Given the description of an element on the screen output the (x, y) to click on. 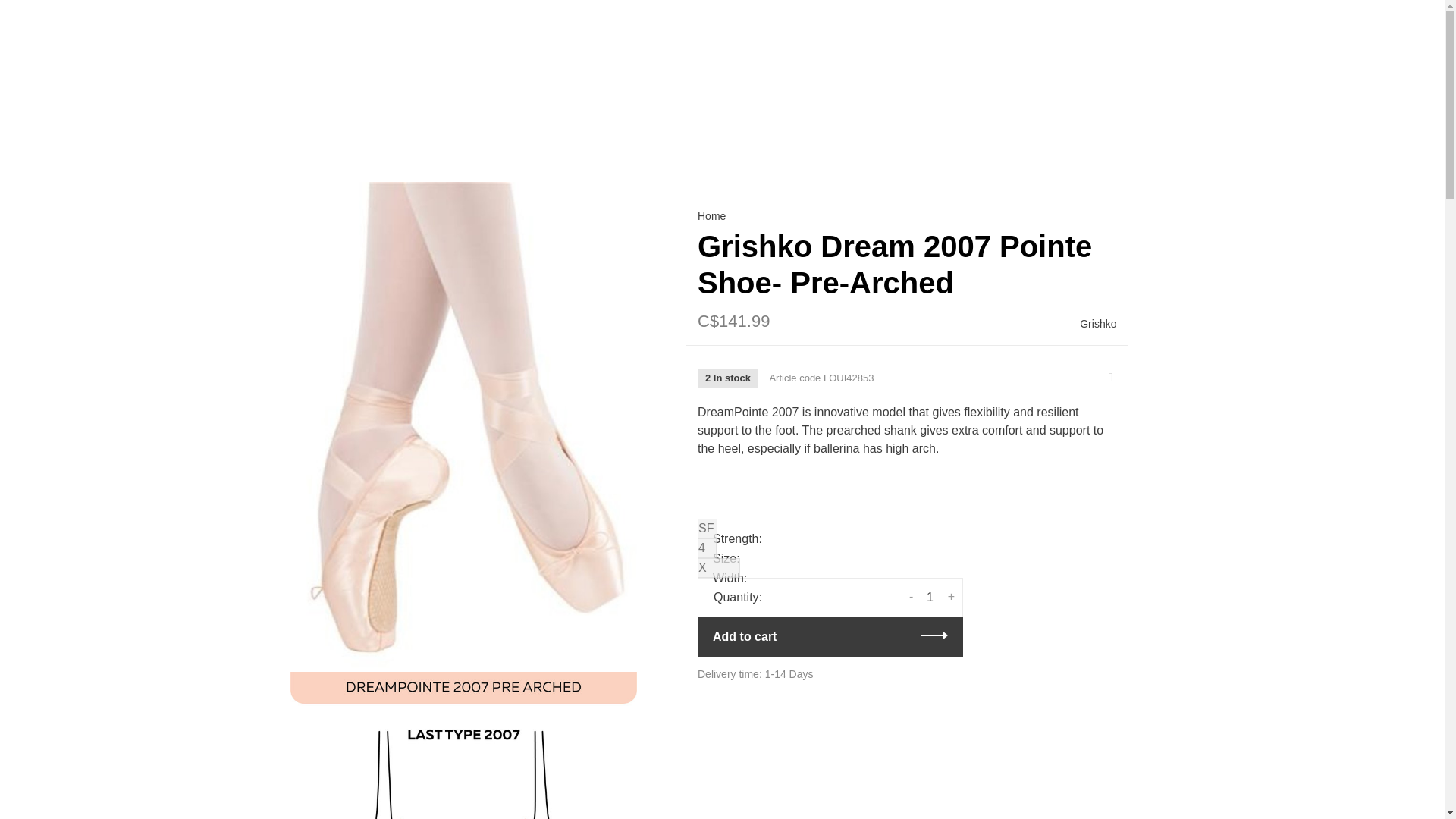
1 (929, 597)
